Given the description of an element on the screen output the (x, y) to click on. 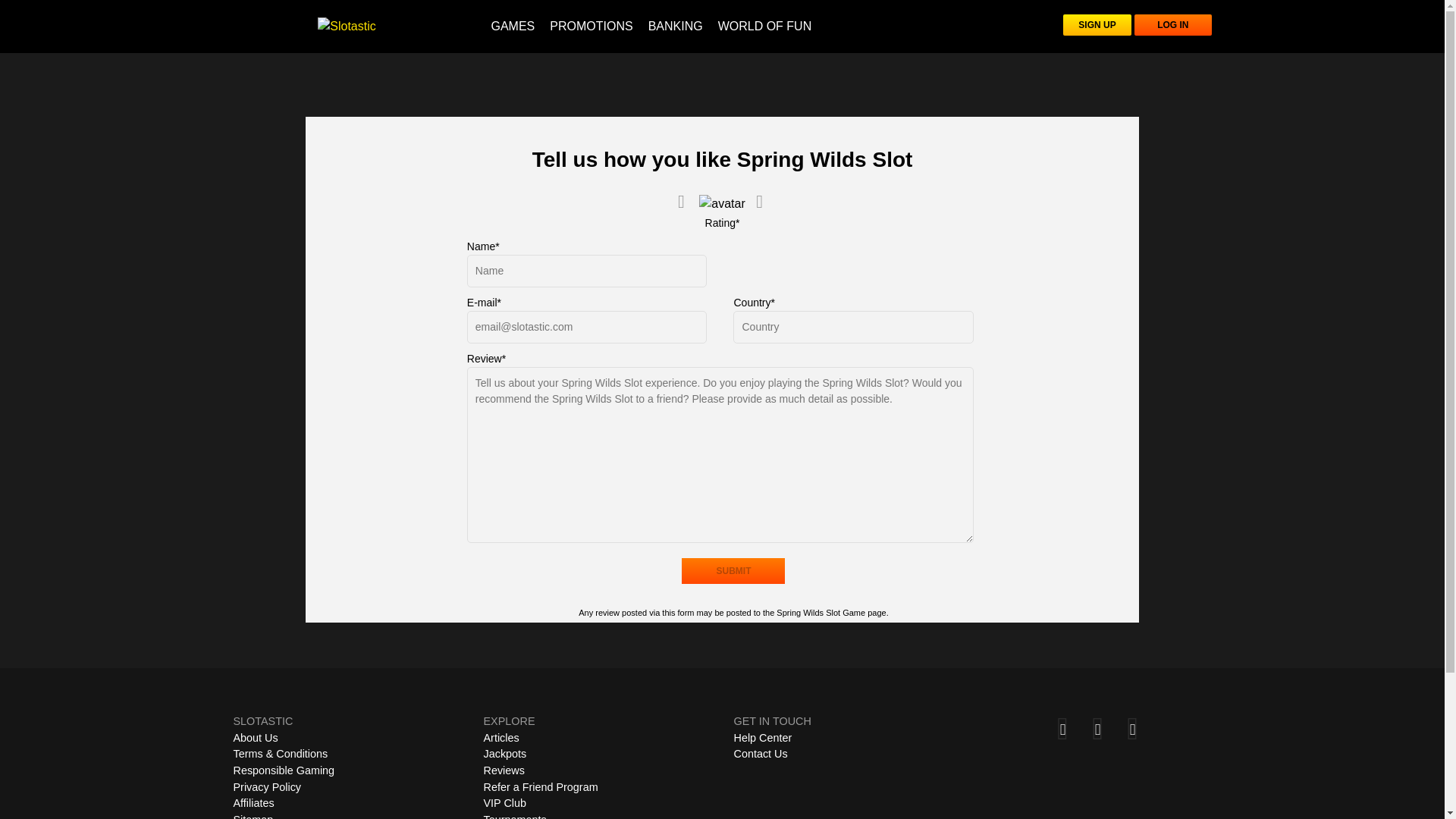
PROMOTIONS (590, 25)
Affiliates (253, 802)
GAMES (513, 25)
BANKING (675, 25)
Sitemap (252, 815)
LOG IN (1172, 25)
Responsible Gaming (283, 770)
SUBMIT (732, 570)
About Us (255, 737)
Privacy Policy (266, 787)
Articles (501, 737)
Jackpots (505, 753)
VIP Club (505, 802)
WORLD OF FUN (764, 25)
Contact Us (760, 753)
